Given the description of an element on the screen output the (x, y) to click on. 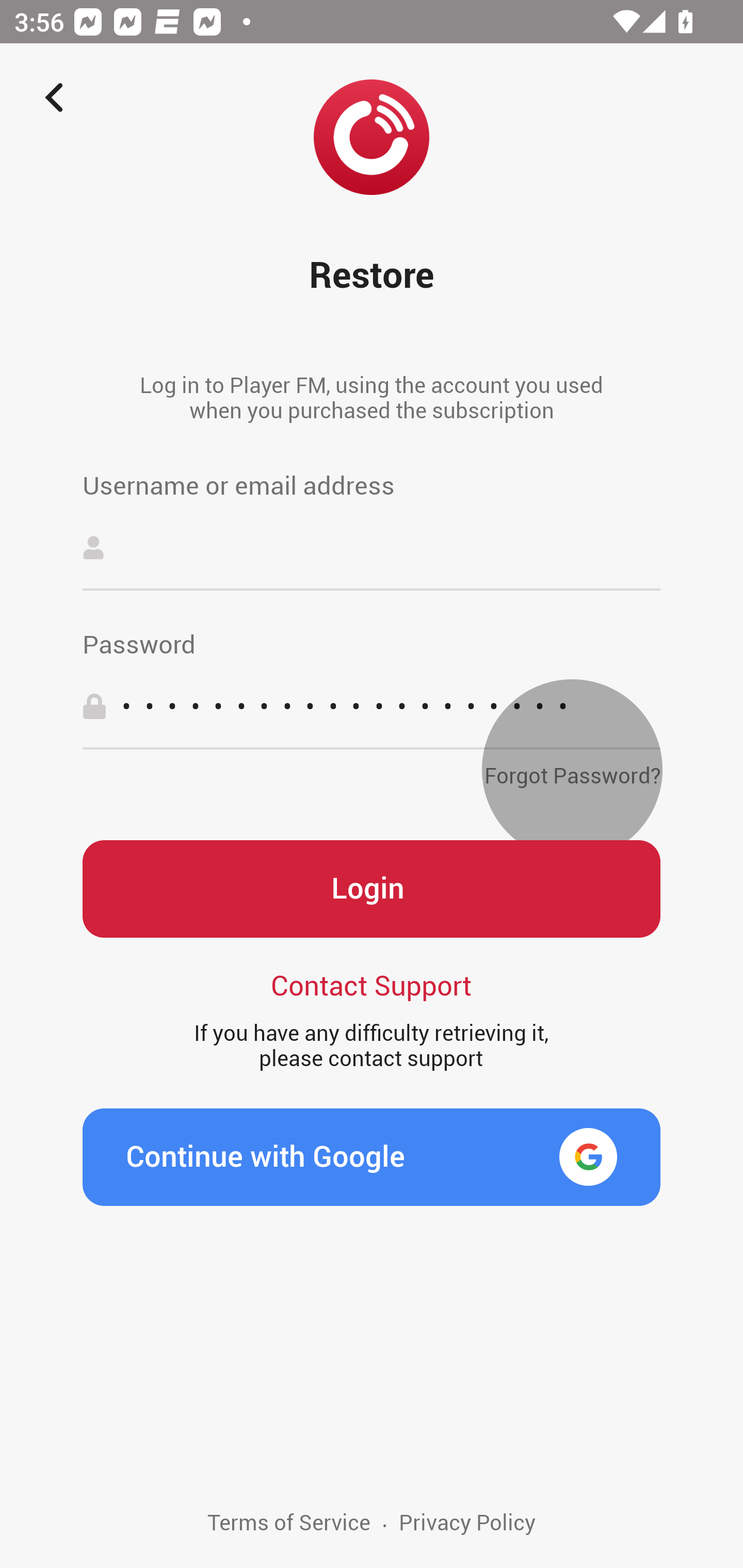
•••••••••••••••••••• (371, 706)
Forgot Password? (571, 769)
Login (371, 888)
Contact Support (371, 984)
Continue with Google (371, 1156)
Terms of Service (288, 1538)
Privacy Policy (466, 1538)
